Given the description of an element on the screen output the (x, y) to click on. 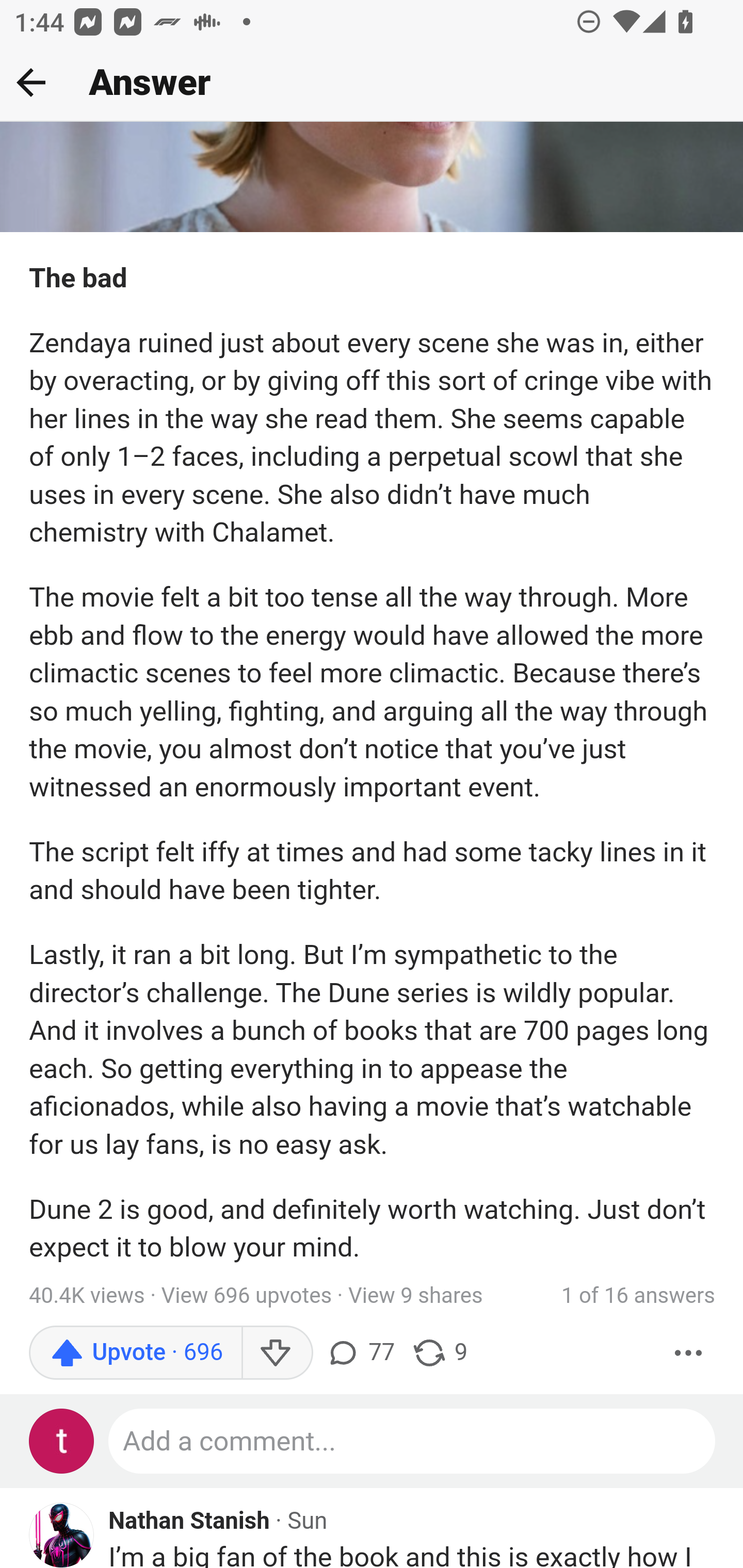
Back (30, 82)
View 696 upvotes (246, 1297)
View 9 shares (414, 1297)
1 of 16 answers (637, 1296)
Profile photo for Test Appium (61, 1441)
Add a comment... (412, 1441)
Profile photo for Nathan Stanish (61, 1535)
Nathan Stanish (189, 1523)
